Given the description of an element on the screen output the (x, y) to click on. 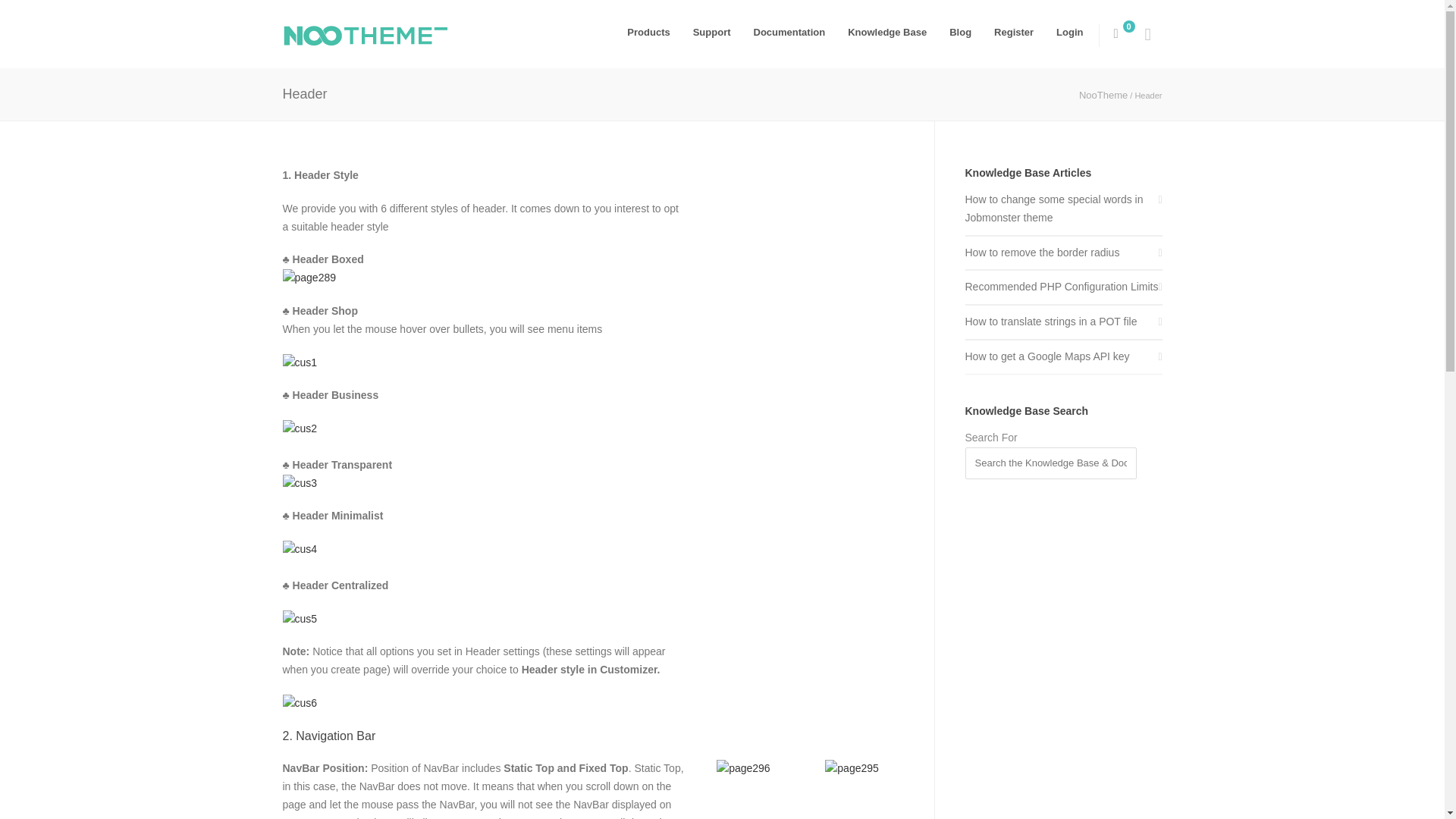
Products (648, 32)
Documentation (789, 32)
Support (711, 32)
